Given the description of an element on the screen output the (x, y) to click on. 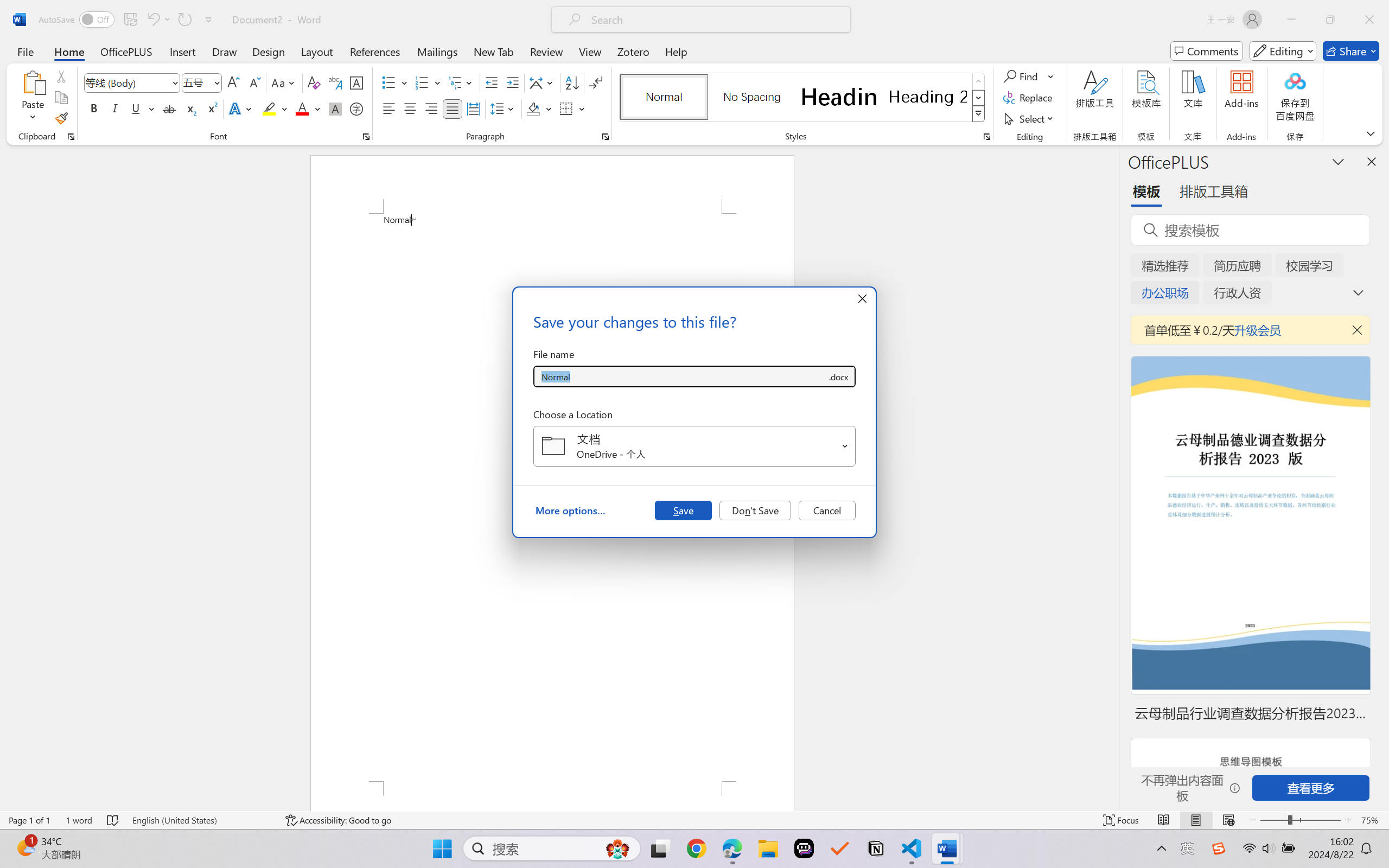
Layout (316, 51)
Cut (60, 75)
Font... (365, 136)
Row up (978, 81)
Zotero (632, 51)
Strikethrough (169, 108)
Select (1030, 118)
Line and Paragraph Spacing (503, 108)
Help (675, 51)
Borders (571, 108)
Styles (978, 113)
